Given the description of an element on the screen output the (x, y) to click on. 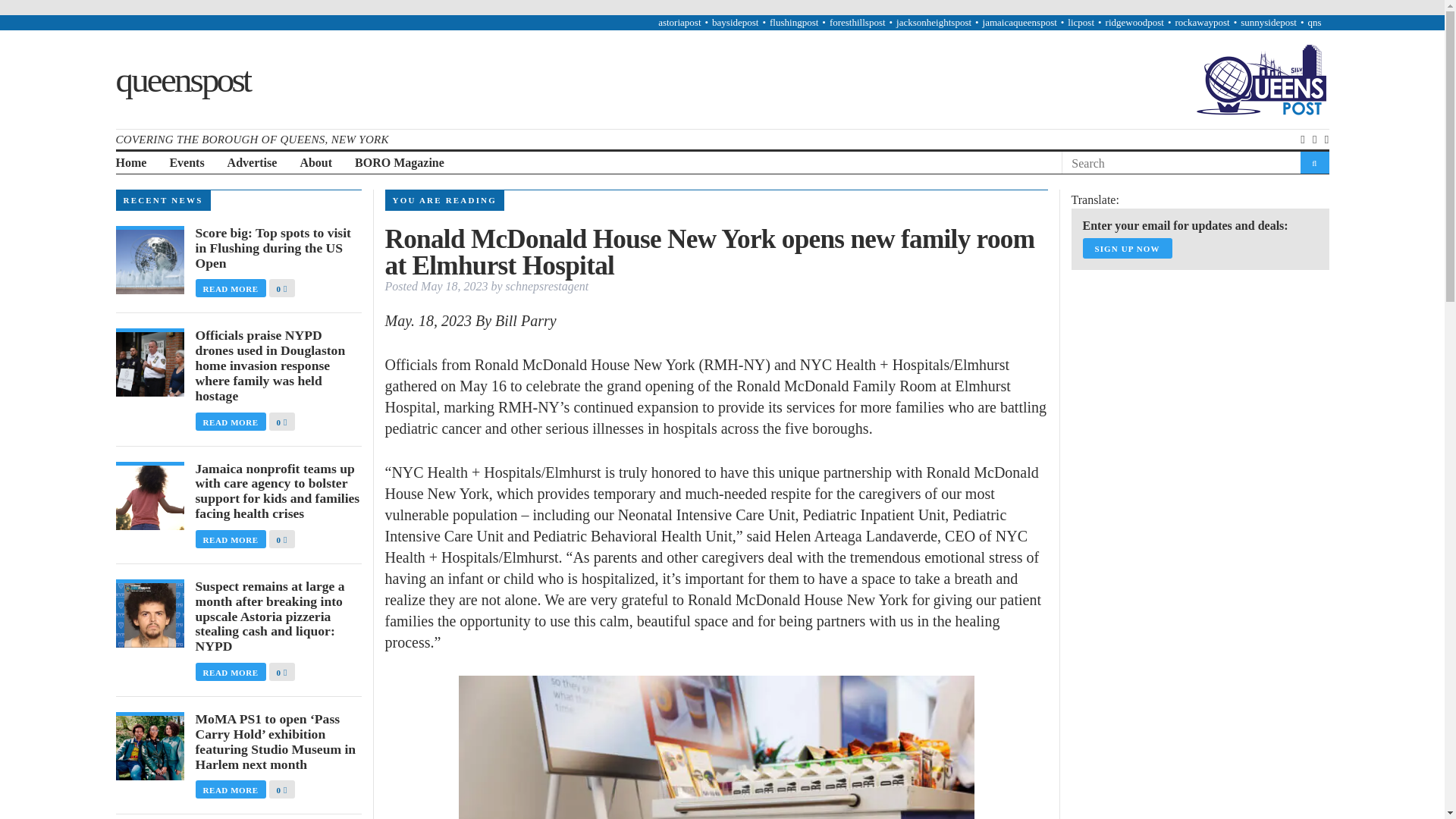
jamaicaqueenspost (1019, 21)
sunnysidepost (1268, 21)
About (315, 163)
Events (185, 163)
licpost (1080, 21)
foresthillspost (857, 21)
rockawaypost (1201, 21)
Score big: Top spots to visit in Flushing during the US Open (278, 248)
READ MORE (232, 287)
queenspost (181, 78)
